Given the description of an element on the screen output the (x, y) to click on. 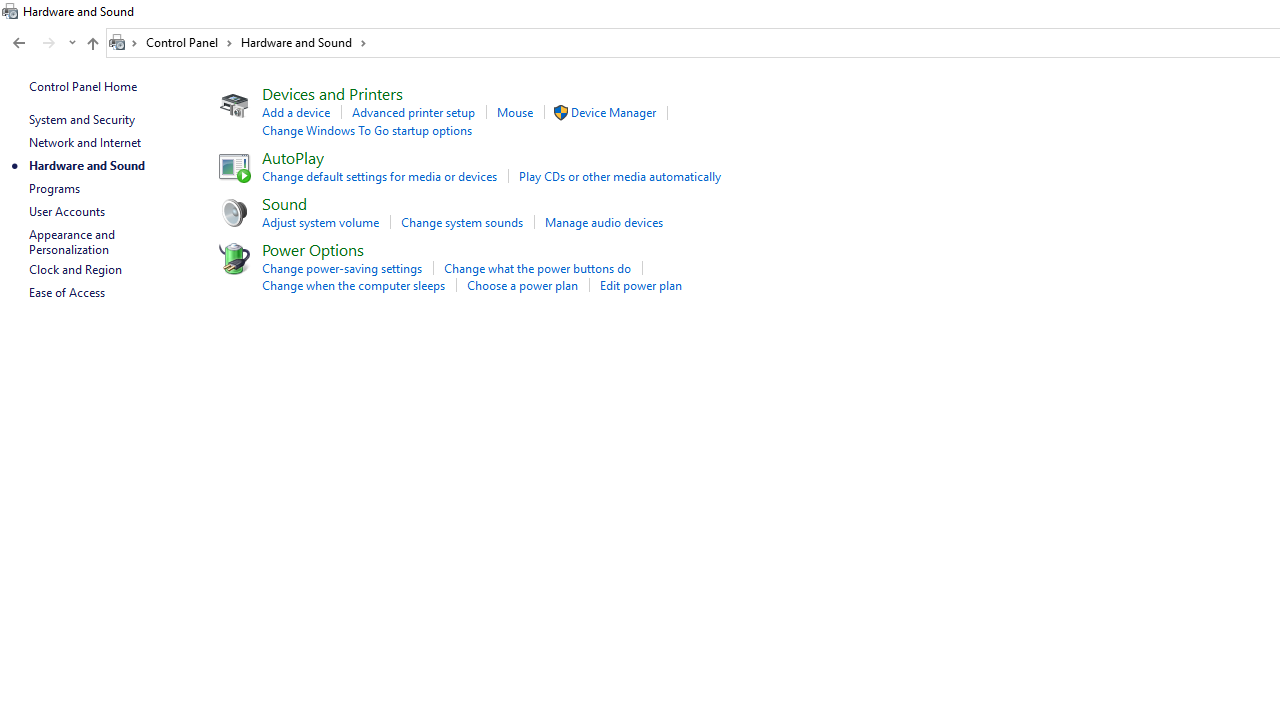
Icon (232, 258)
Back to Network and Internet (Alt + Left Arrow) (18, 43)
Navigation buttons (41, 43)
Manage audio devices (603, 222)
Clock and Region (75, 269)
Devices and Printers (331, 92)
Hardware and Sound (303, 42)
Icon (560, 112)
System (10, 11)
Appearance and Personalization (73, 241)
Ease of Access (66, 292)
Device Manager (613, 112)
Sound (283, 202)
Up band toolbar (92, 46)
Change system sounds (461, 222)
